Given the description of an element on the screen output the (x, y) to click on. 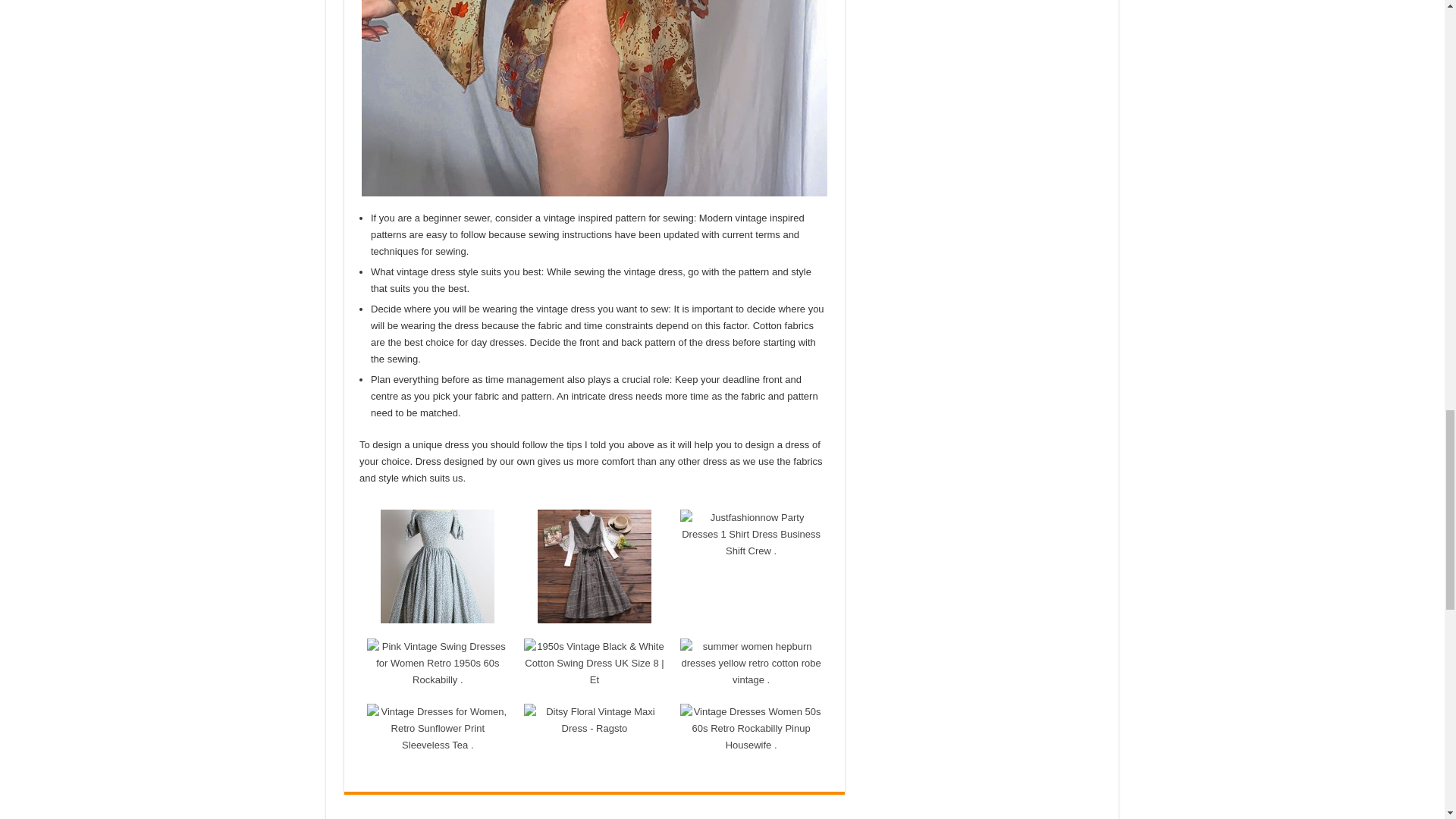
How To Make Vintage Dresses (594, 98)
